Given the description of an element on the screen output the (x, y) to click on. 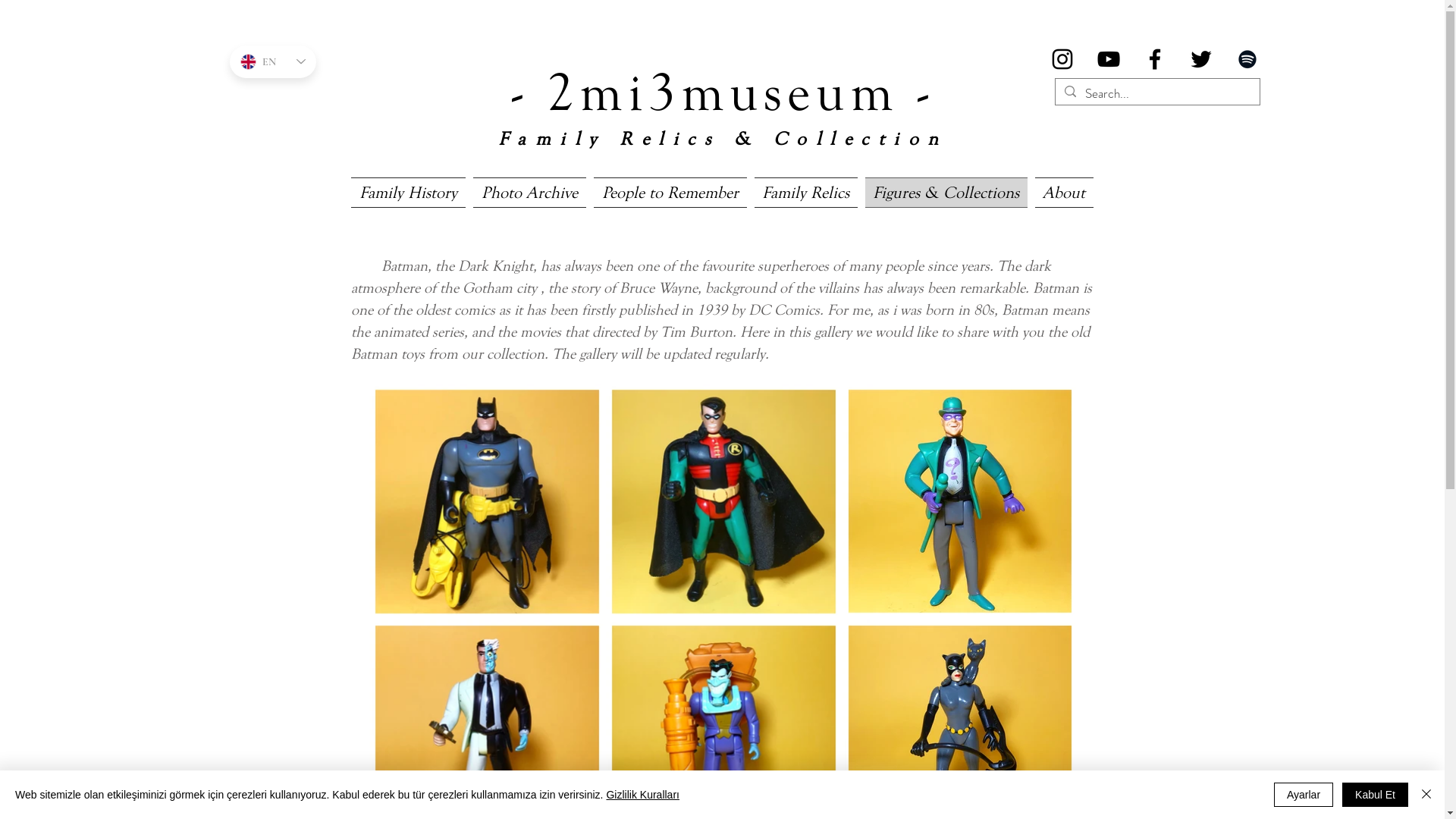
Kabul Et Element type: text (1375, 794)
People to Remember Element type: text (669, 192)
- 2mi3museum - Element type: text (722, 86)
2mi3museum@gmail.com Element type: text (712, 796)
Family History Element type: text (409, 192)
About Element type: text (1062, 192)
Ayarlar Element type: text (1303, 794)
Family Relics Element type: text (805, 192)
Figures & Collections Element type: text (946, 192)
Photo Archive Element type: text (528, 192)
